Given the description of an element on the screen output the (x, y) to click on. 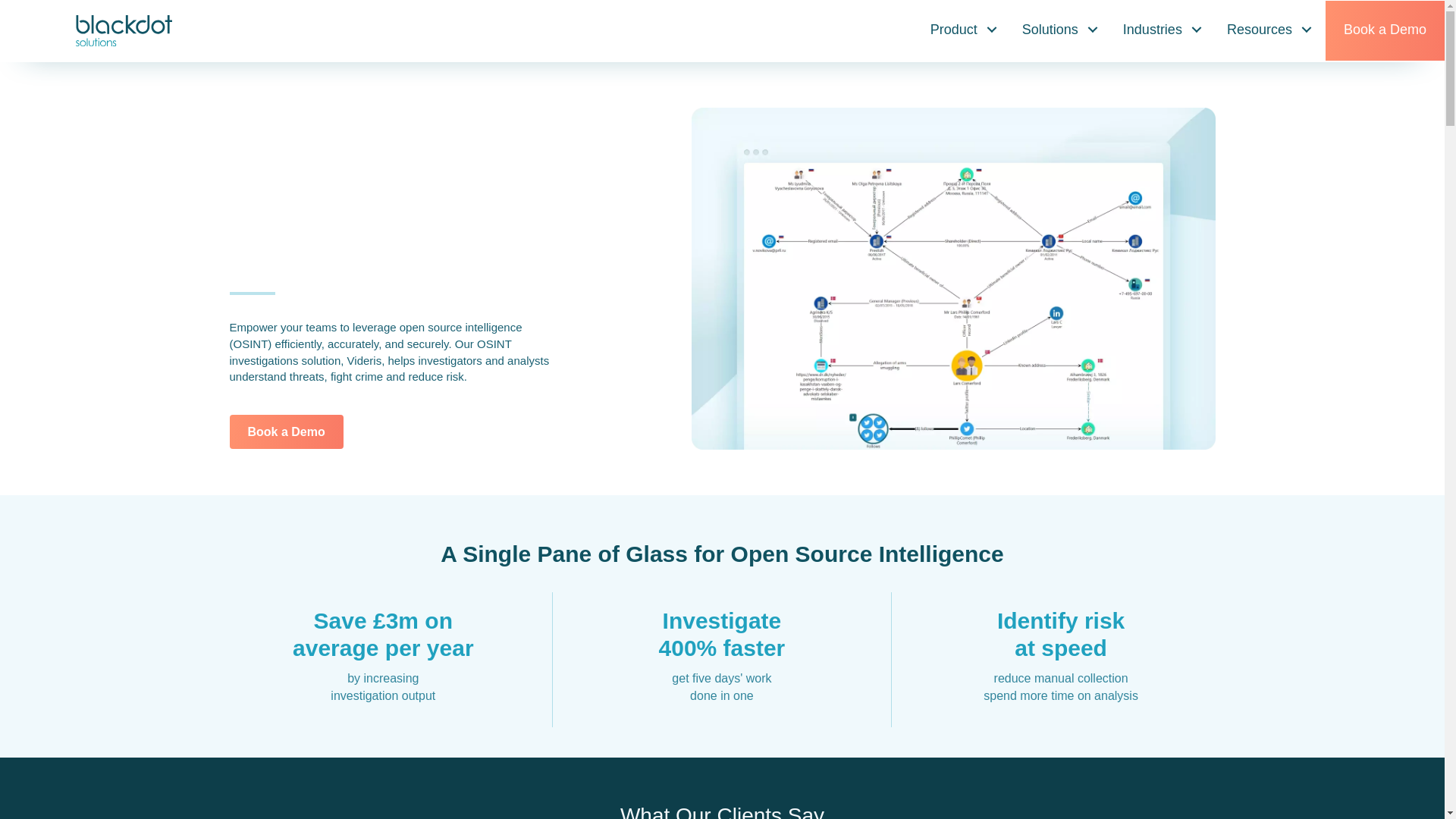
Resources (1269, 29)
logo-blue (123, 30)
Solutions (1061, 29)
Product (964, 29)
Industries (1163, 29)
Book a Demo (285, 431)
